Given the description of an element on the screen output the (x, y) to click on. 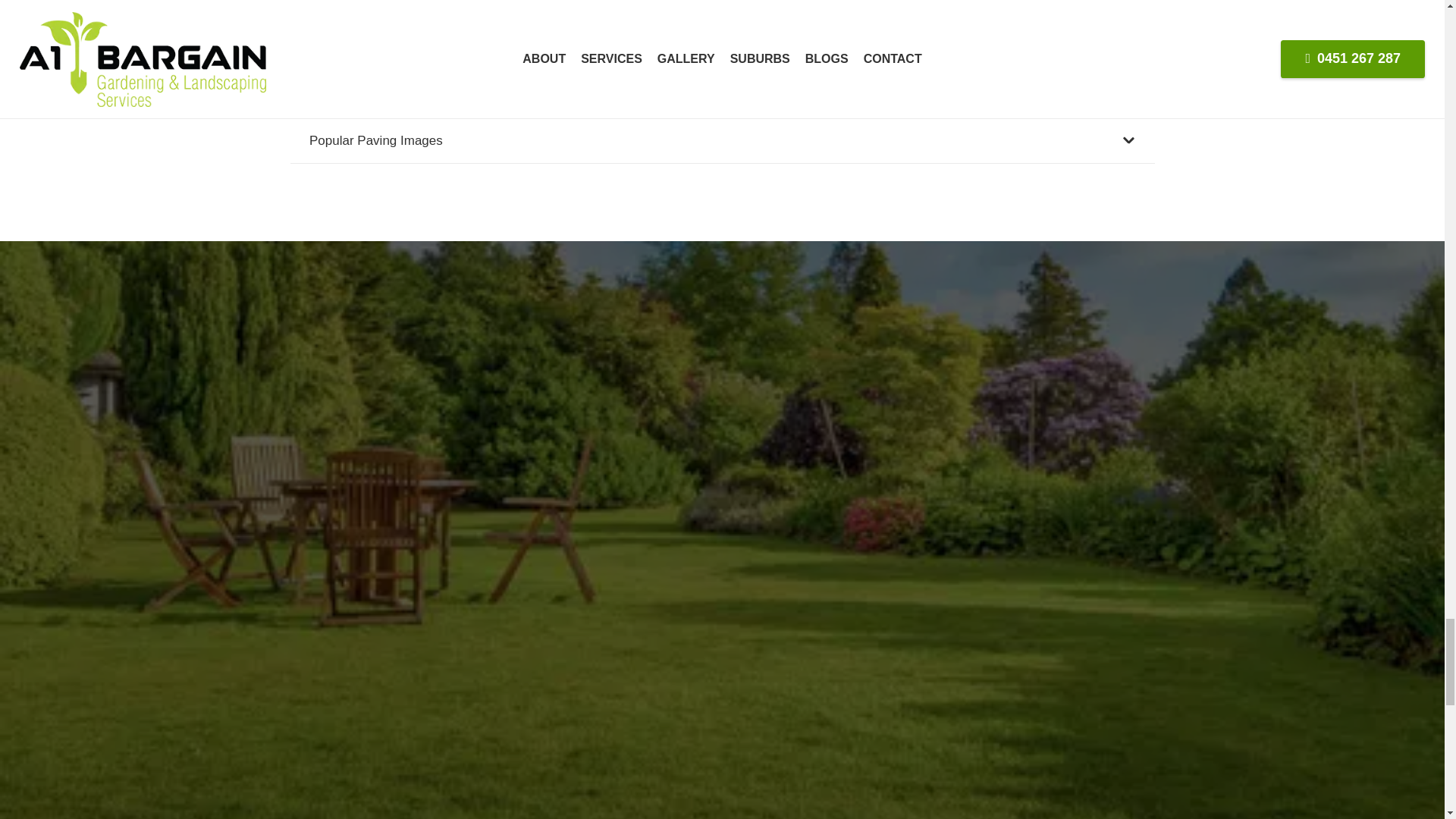
wpforms-submit (775, 812)
Popular Paving Images (721, 140)
Popular Paving Images (721, 140)
